Given the description of an element on the screen output the (x, y) to click on. 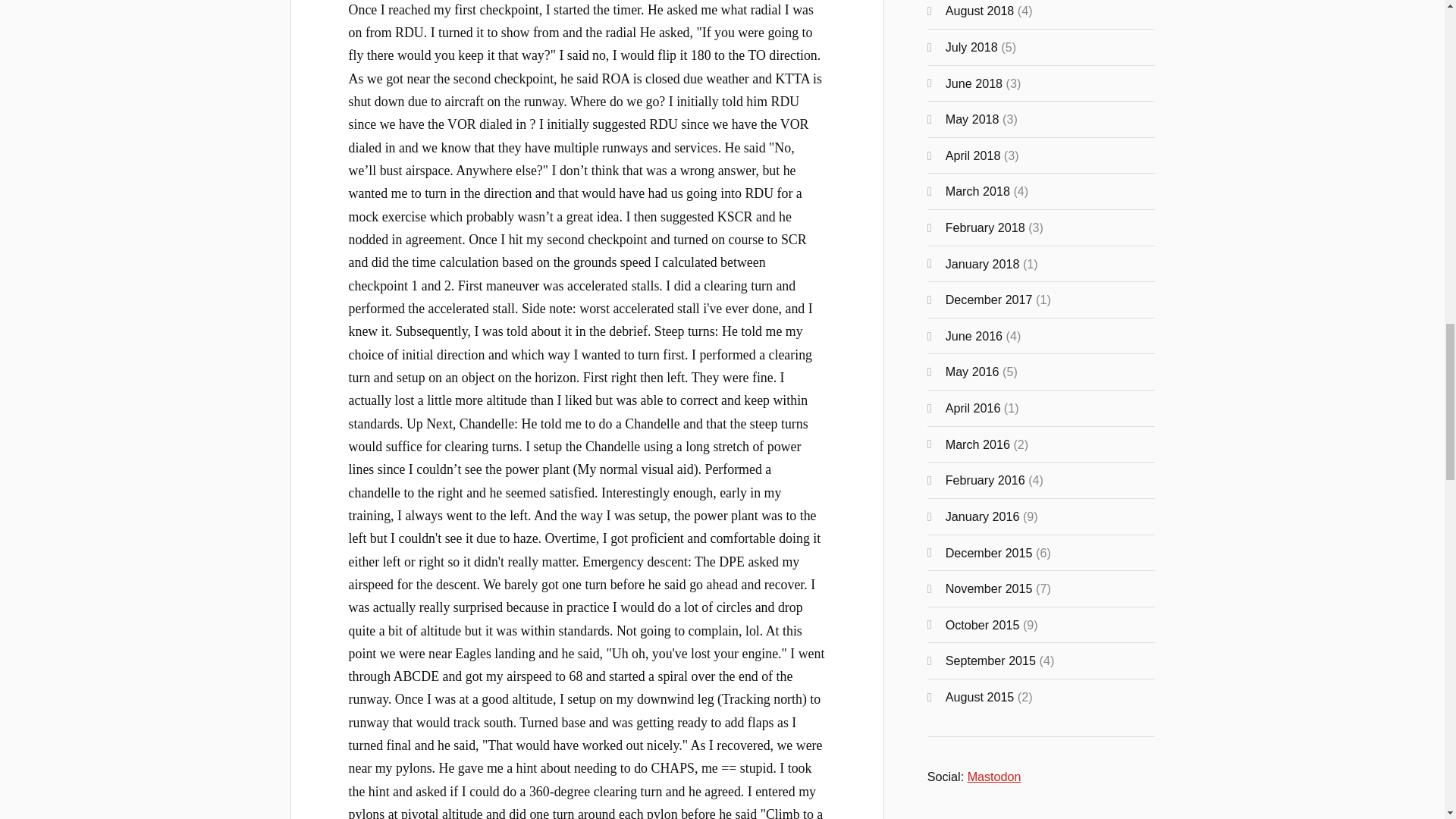
August 2018 (979, 10)
